Given the description of an element on the screen output the (x, y) to click on. 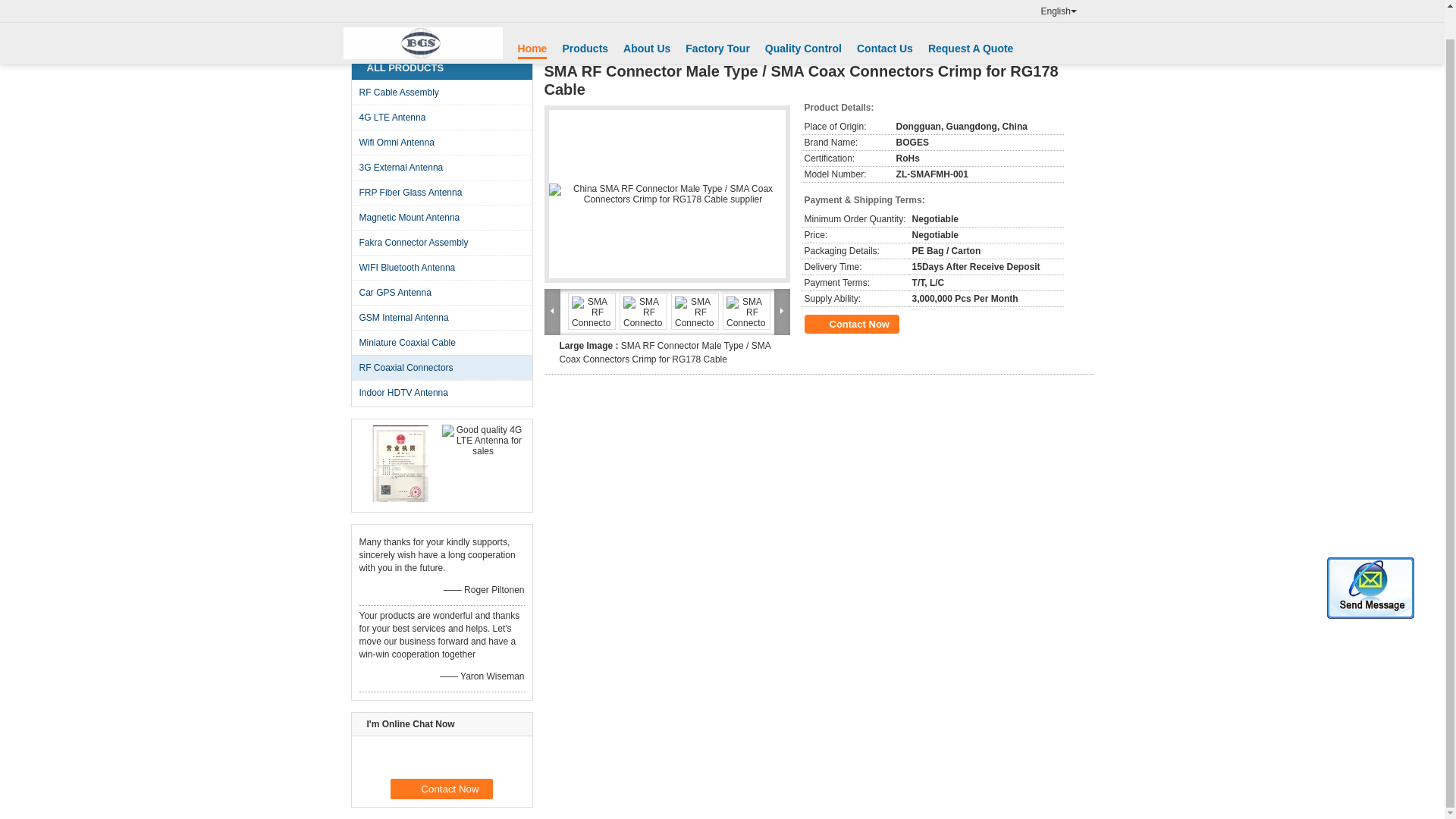
GSM Internal Antenna (443, 317)
Indoor HDTV Antenna (443, 392)
Quality Control (803, 18)
3G External Antenna (443, 166)
Request A Quote (970, 18)
Wifi Omni Antenna (443, 141)
RF Coaxial Connectors (443, 367)
Home (531, 19)
Factory Tour (717, 18)
Car GPS Antenna (443, 292)
